Given the description of an element on the screen output the (x, y) to click on. 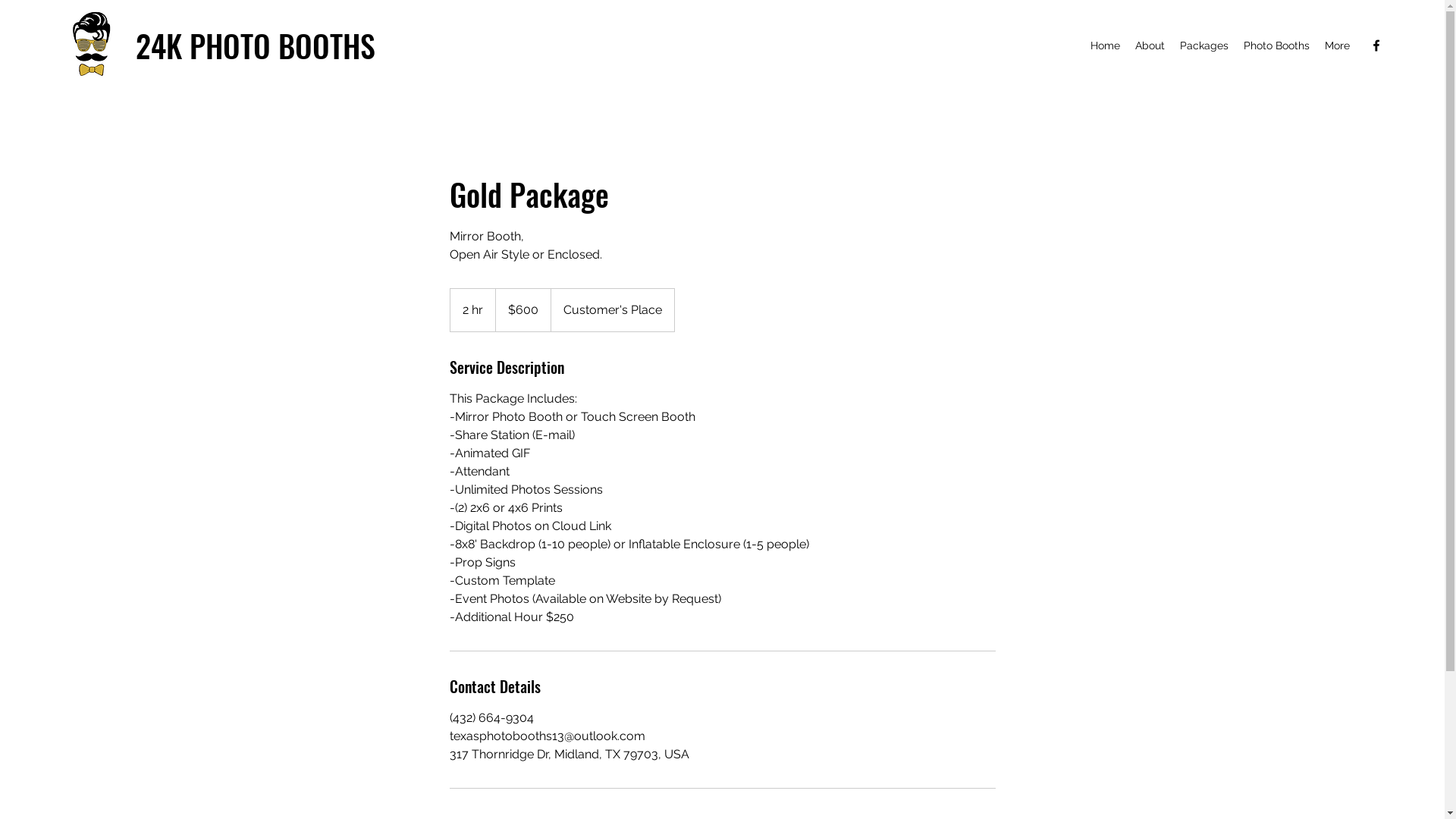
Home Element type: text (1104, 45)
Packages Element type: text (1204, 45)
24K PHOTO BOOTHS Element type: text (255, 45)
About Element type: text (1149, 45)
Photo Booths Element type: text (1276, 45)
